Given the description of an element on the screen output the (x, y) to click on. 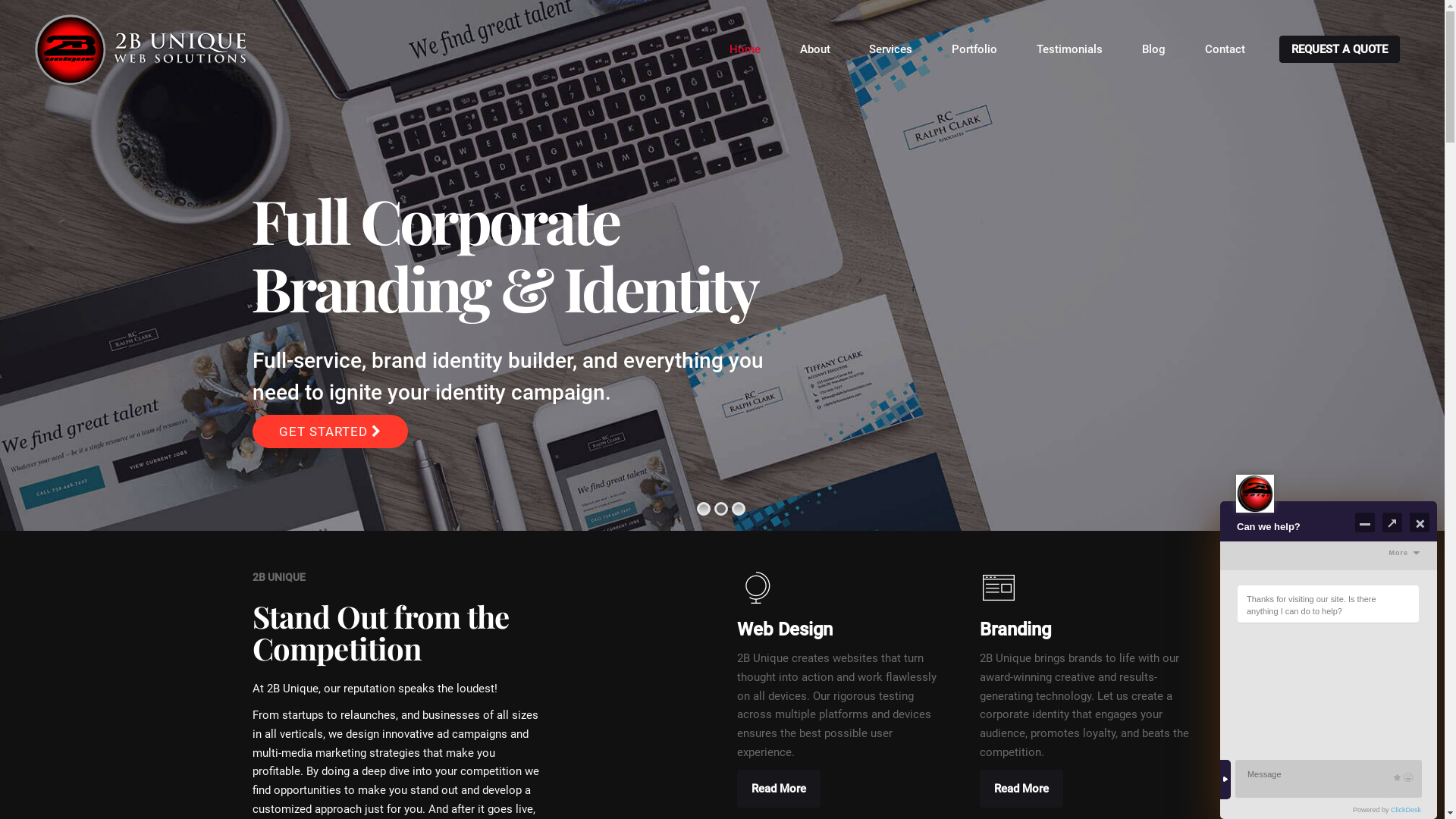
Home Element type: text (744, 49)
Read More Element type: text (1021, 788)
Testimonials Element type: text (1069, 49)
GET STARTED  Element type: text (325, 431)
Services Element type: text (891, 49)
Blog Element type: text (1153, 49)
close Element type: text (1414, 801)
About Element type: text (815, 49)
Portfolio Element type: text (973, 49)
Read More Element type: text (778, 788)
REQUEST A QUOTE Element type: text (1339, 48)
Contact Element type: text (1224, 49)
